Given the description of an element on the screen output the (x, y) to click on. 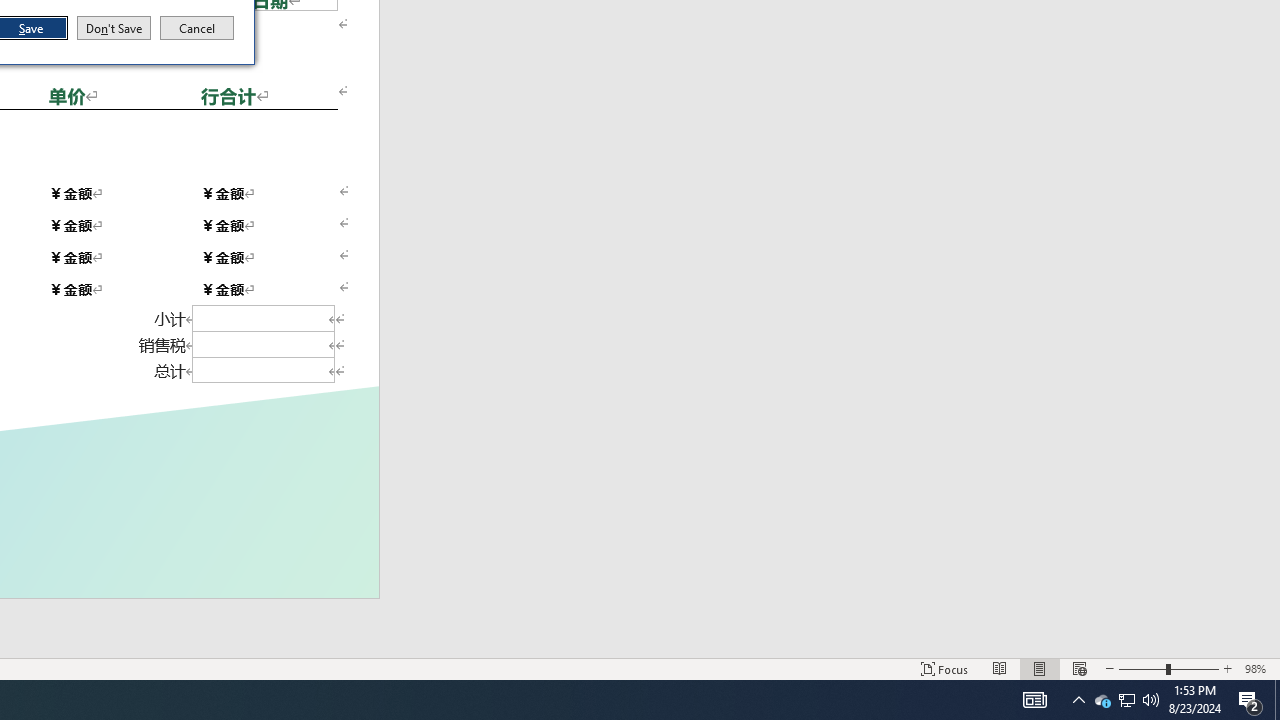
Q2790: 100% (1151, 699)
Action Center, 2 new notifications (1102, 699)
Cancel (1250, 699)
Web Layout (197, 27)
Zoom In (1079, 668)
Don't Save (1227, 668)
Focus  (113, 27)
User Promoted Notification Area (944, 668)
Zoom 98% (1126, 699)
AutomationID: 4105 (1258, 668)
Zoom Out (1034, 699)
Zoom (1142, 668)
